Given the description of an element on the screen output the (x, y) to click on. 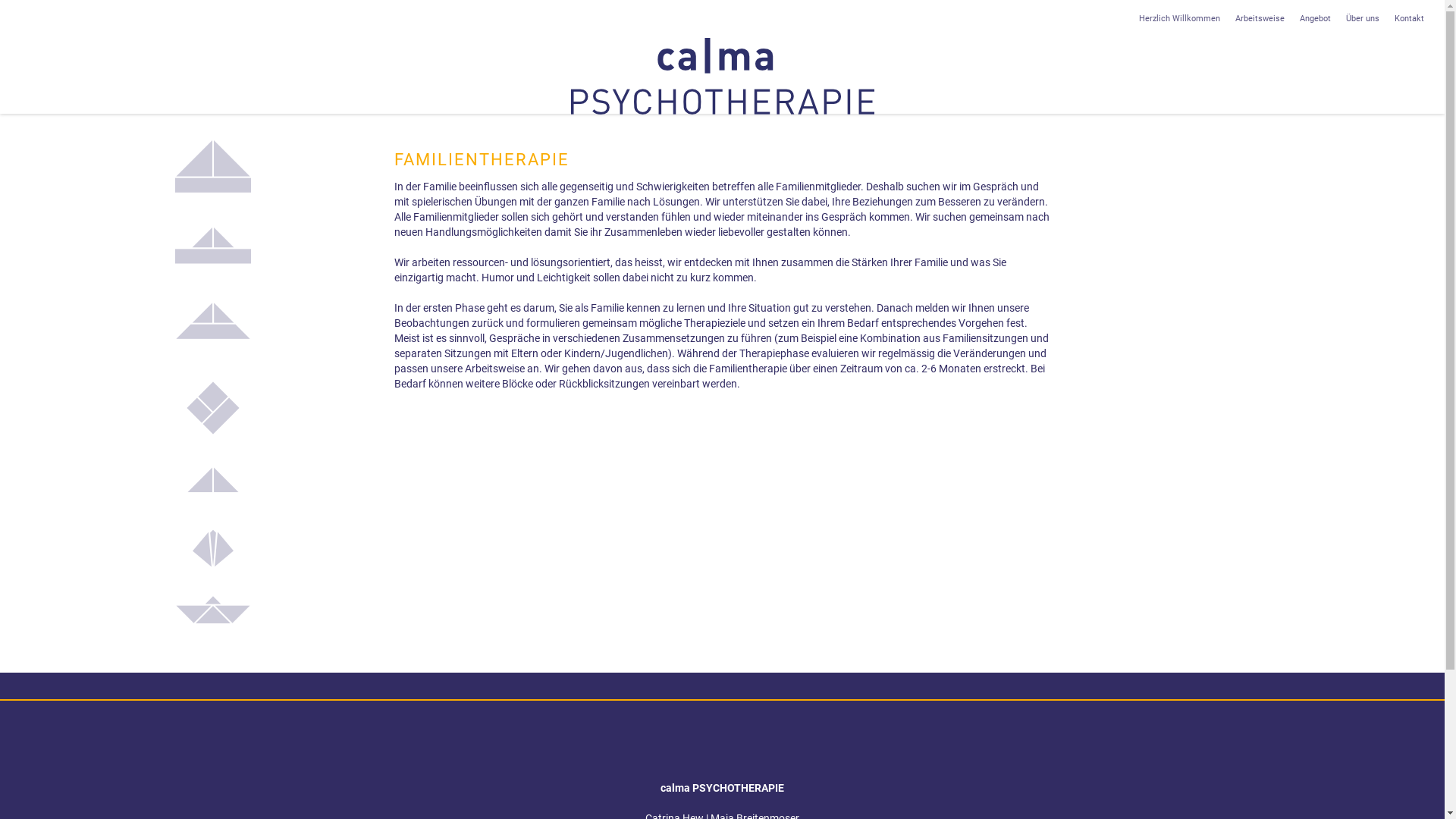
Kontakt Element type: text (1408, 18)
Herzlich Willkommen Element type: text (1179, 18)
Arbeitsweise Element type: text (1258, 18)
Einzeltherapie, Familientherapie, Multifamiliengruppe Element type: hover (721, 75)
Angebot Element type: text (1314, 18)
